Given the description of an element on the screen output the (x, y) to click on. 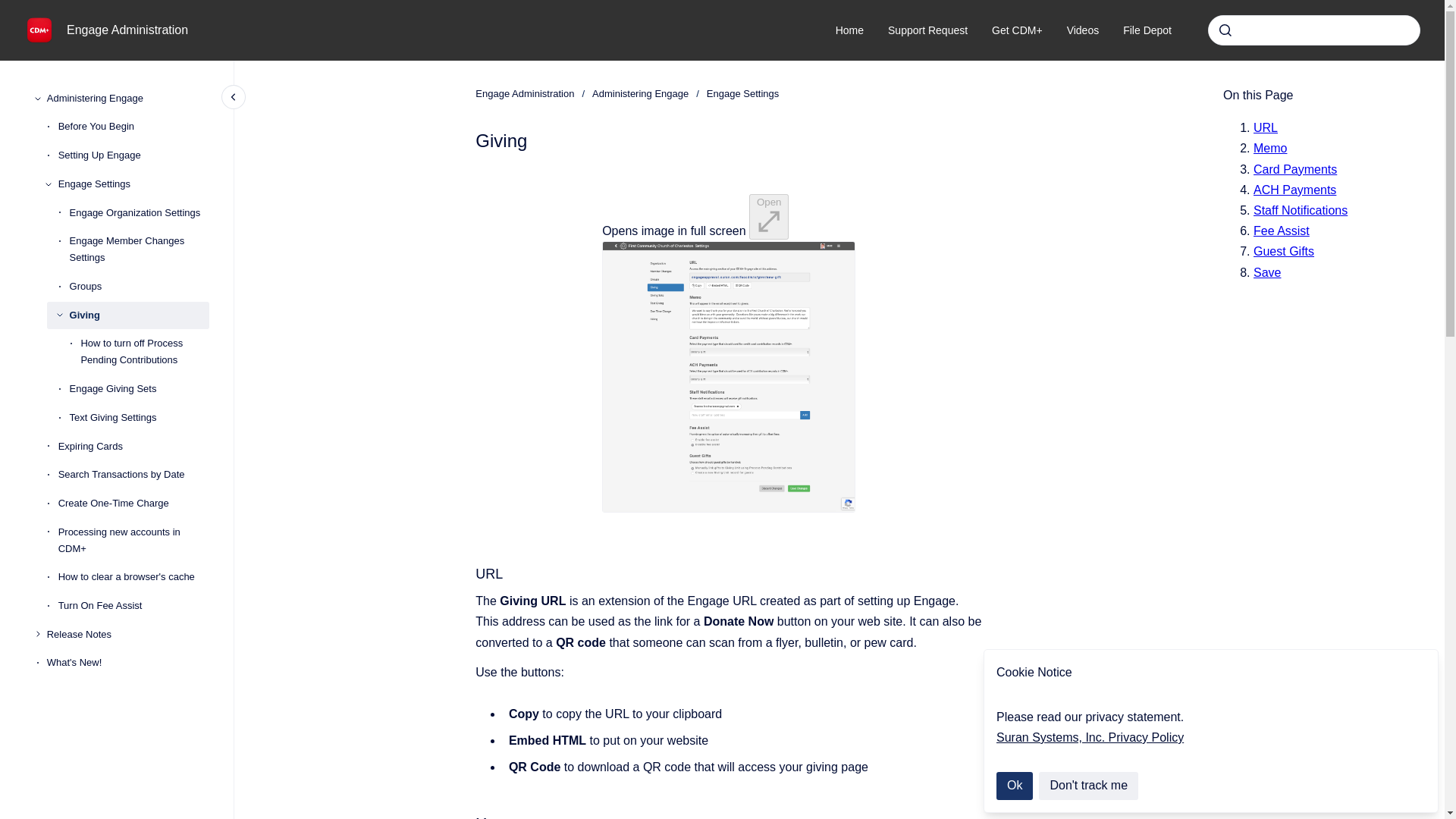
Engage Giving Sets (139, 388)
Administering Engage (127, 98)
Before You Begin (133, 126)
Administering Engage (640, 93)
Turn On Fee Assist (133, 605)
Engage Settings (133, 184)
Text Giving Settings (139, 417)
How to turn off Process Pending Contributions (144, 352)
What's New! (127, 663)
Engage Organization Settings (139, 212)
Copy to clipboard (468, 816)
Search Transactions by Date (133, 474)
File Depot (1146, 30)
Engage Administration (126, 29)
Suran Systems, Inc. Privacy Policy (1089, 737)
